Given the description of an element on the screen output the (x, y) to click on. 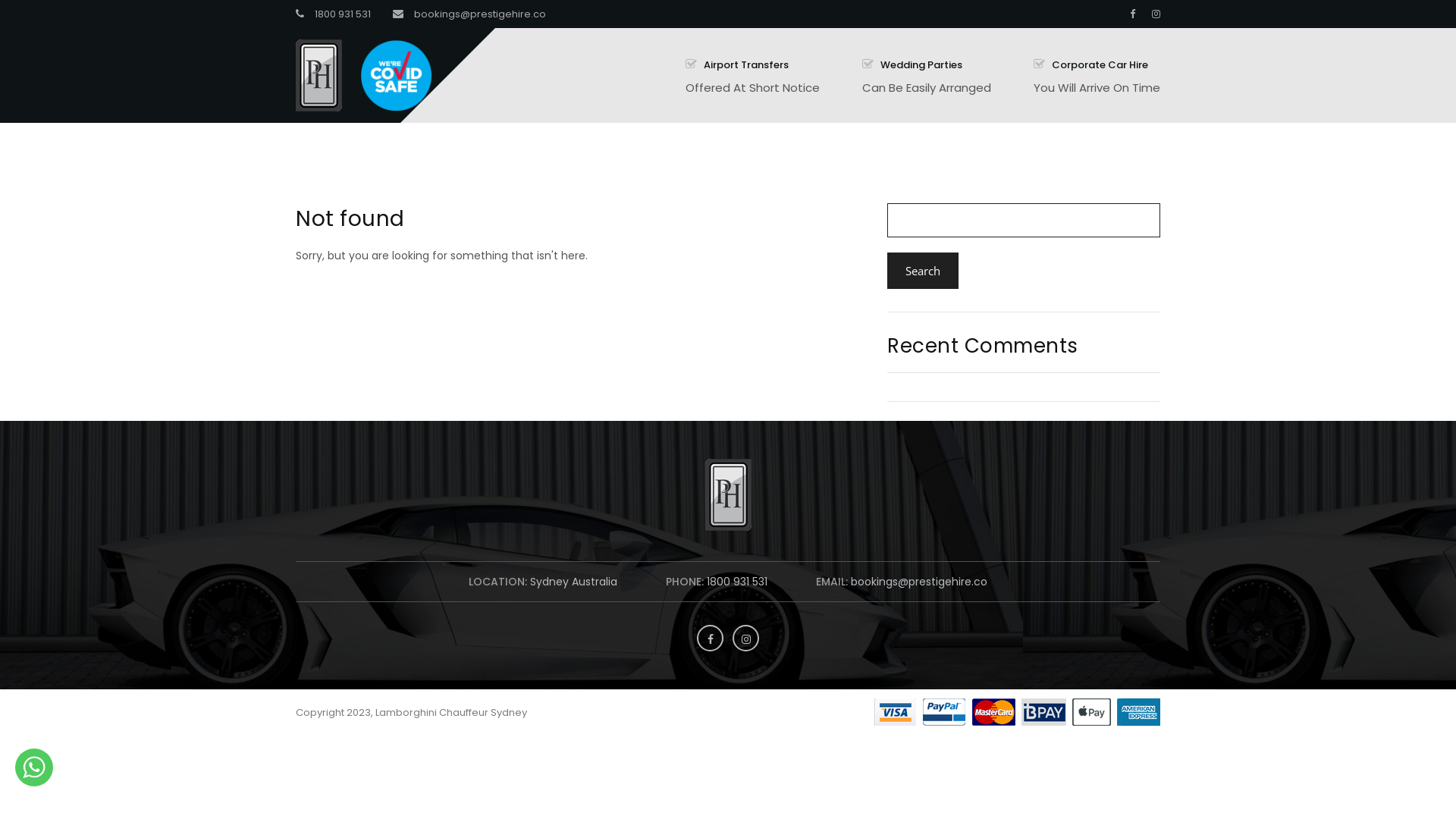
bookings@prestigehire.co Element type: text (480, 13)
1800 931 531 Element type: text (736, 581)
bookings@prestigehire.co Element type: text (918, 581)
Search Element type: text (922, 270)
1800 931 531 Element type: text (342, 13)
